Given the description of an element on the screen output the (x, y) to click on. 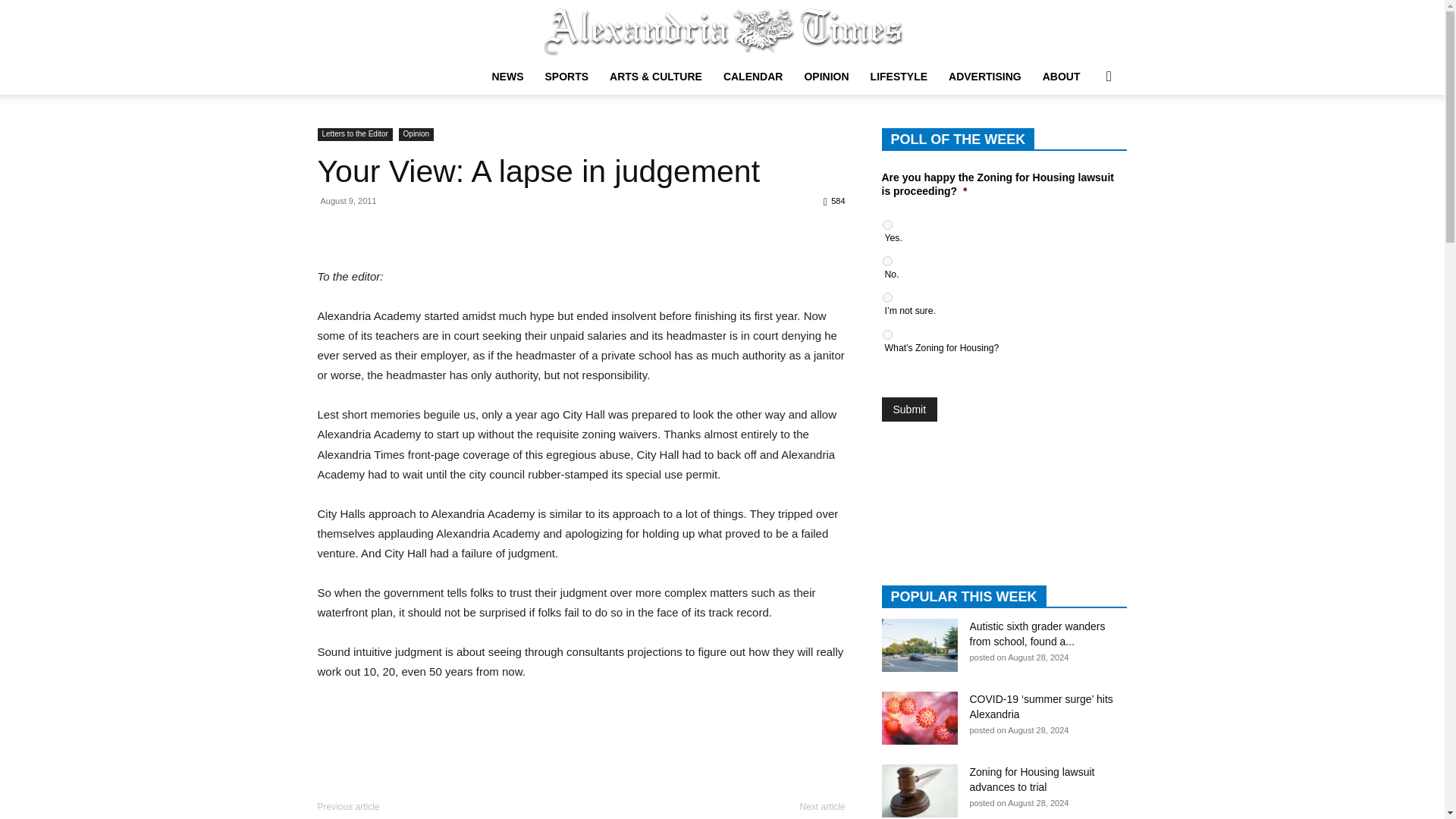
gpoll17f78fa0c (887, 261)
gpoll1e62938c7 (887, 225)
gpoll1c49897e3 (887, 334)
gpoll16688ac5e (887, 297)
Follow us on instagram (342, 723)
Submit (908, 409)
Your View: A lapse in judgement (538, 171)
Share on Facebook (338, 246)
Alexandria Times (722, 29)
Share by email (419, 246)
